Given the description of an element on the screen output the (x, y) to click on. 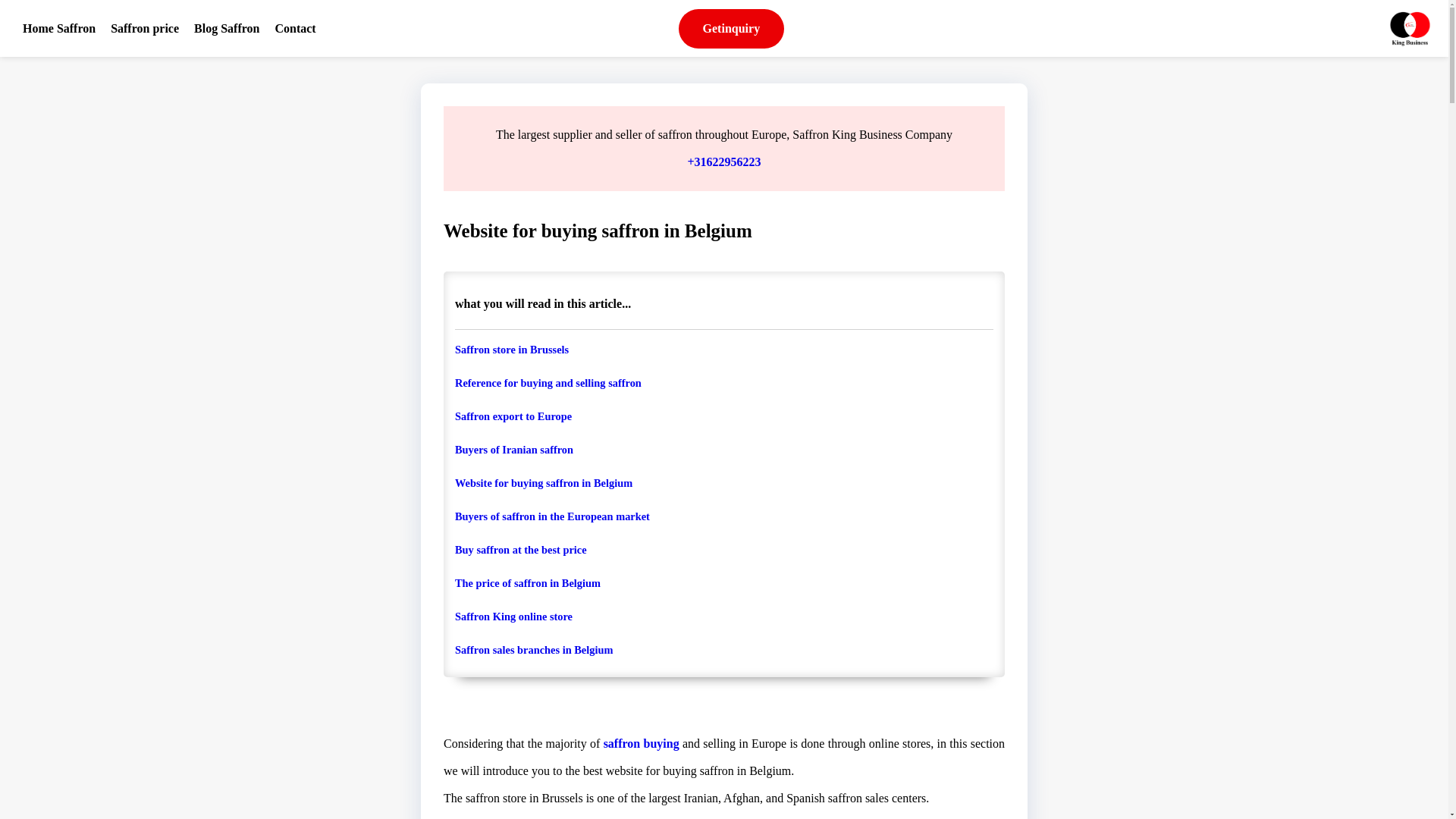
Buyers of saffron in the European market (723, 515)
The price of saffron in Belgium (723, 583)
Saffron export to Europe (723, 415)
Website for buying saffron in Belgium (723, 482)
Contact (294, 27)
Buy saffron at the best price (723, 549)
Buyers of Iranian saffron (723, 449)
Reference for buying and selling saffron (723, 382)
Home Saffron (58, 27)
Getinquiry (731, 28)
